Given the description of an element on the screen output the (x, y) to click on. 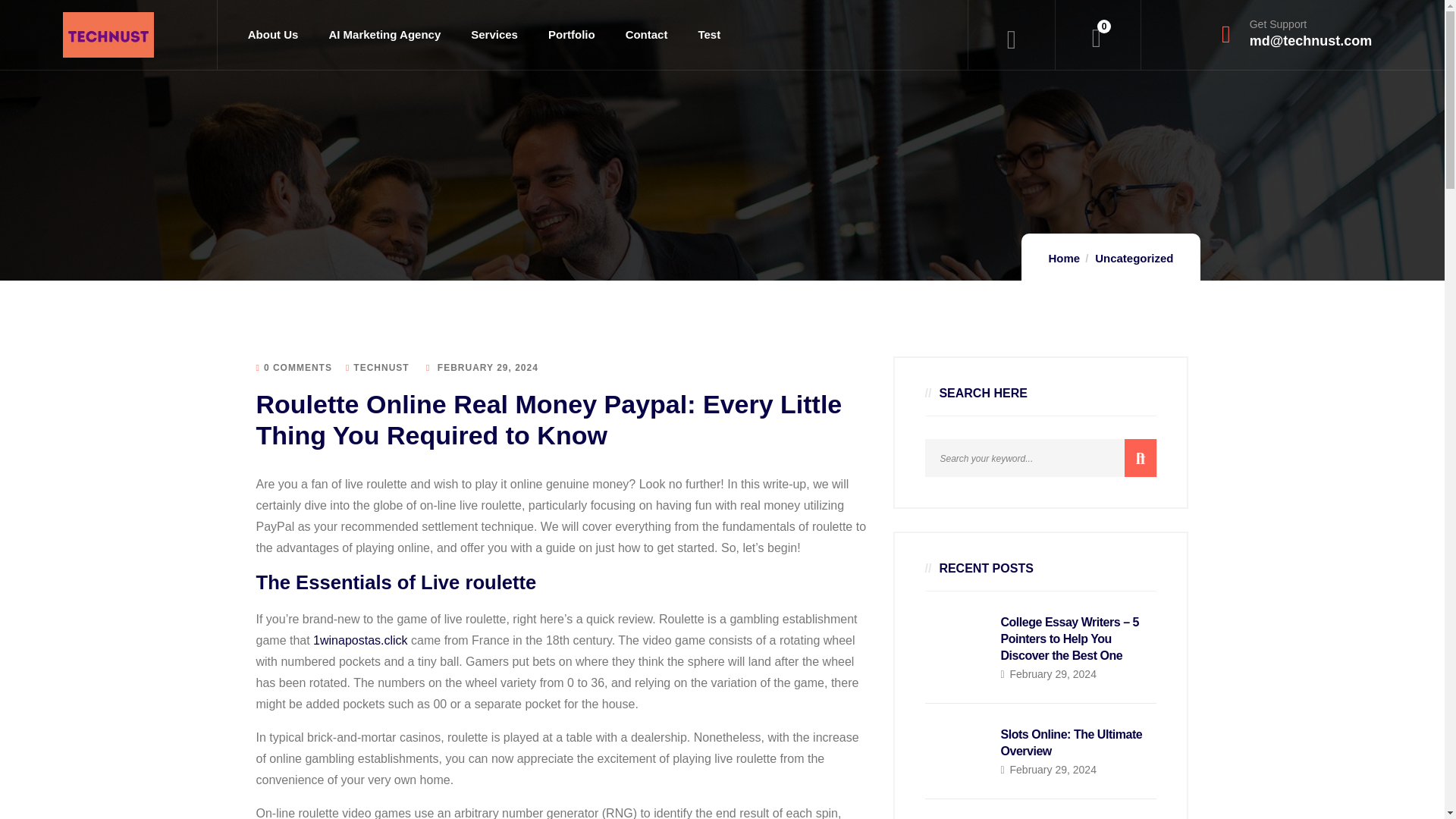
Home (1064, 257)
Uncategorized (1133, 257)
1winapostas.click (360, 640)
AI Marketing Agency (385, 34)
Home (108, 34)
